Given the description of an element on the screen output the (x, y) to click on. 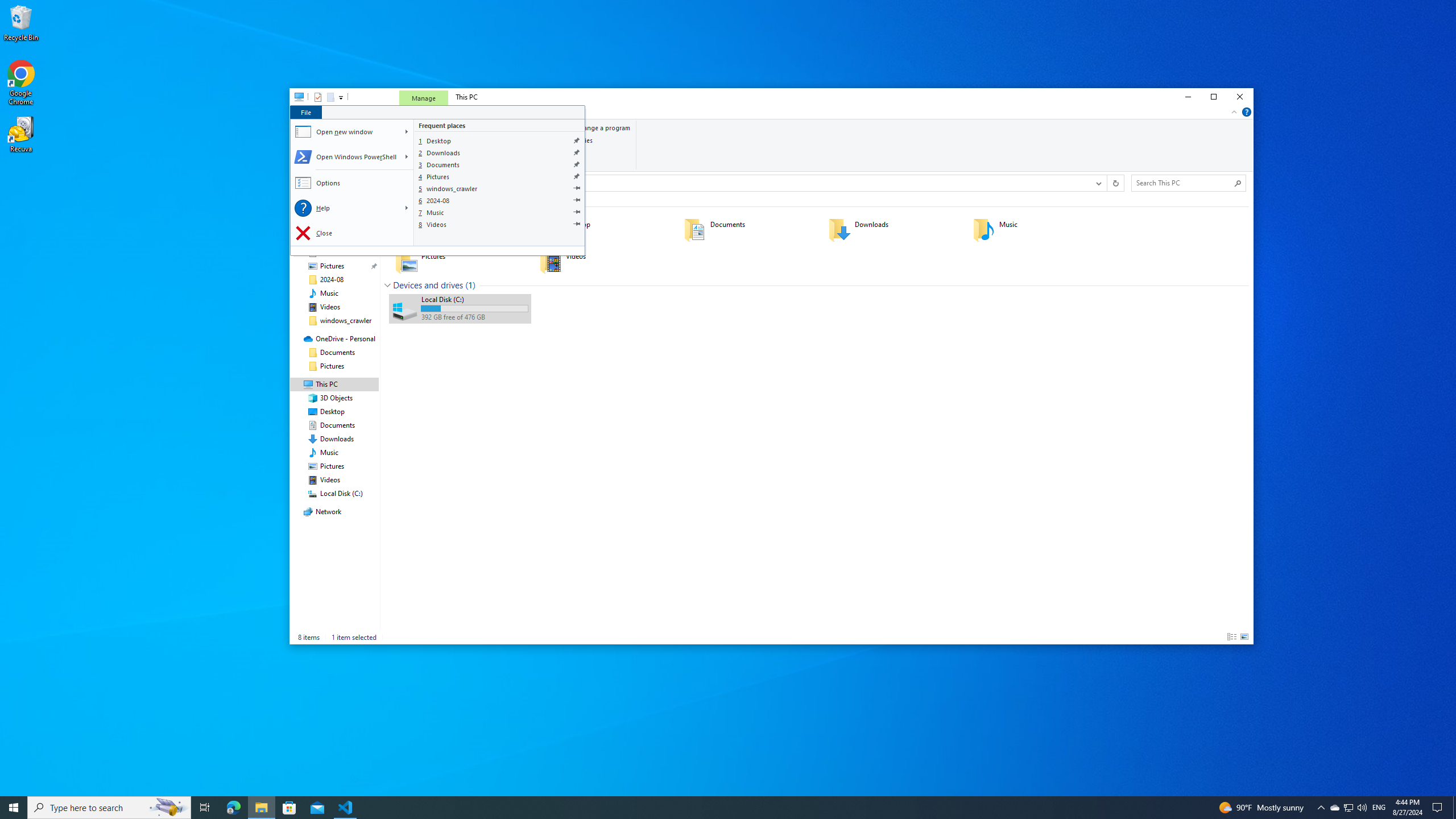
Tray Input Indicator - English (United States) (1378, 807)
2024-08 (499, 200)
Open Windows PowerShell (345, 156)
Close (352, 232)
Videos (499, 224)
Downloads (499, 152)
Running applications (706, 807)
